Given the description of an element on the screen output the (x, y) to click on. 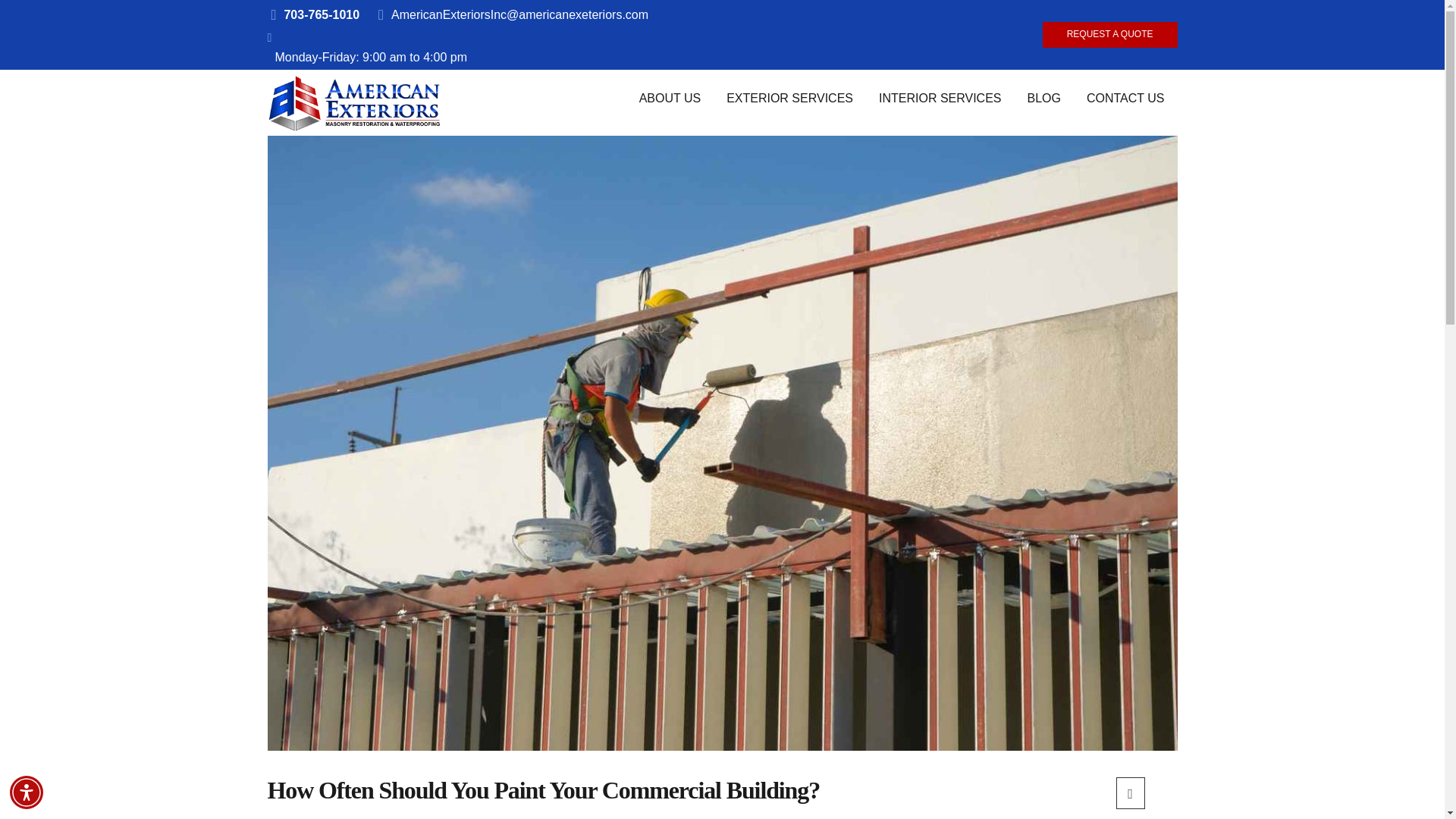
EXTERIOR SERVICES (789, 98)
REQUEST A QUOTE (1109, 34)
CONTACT US (1125, 98)
Accessibility Menu (26, 792)
ABOUT US (670, 98)
INTERIOR SERVICES (940, 98)
BLOG (1044, 98)
703-765-1010 (318, 14)
